Given the description of an element on the screen output the (x, y) to click on. 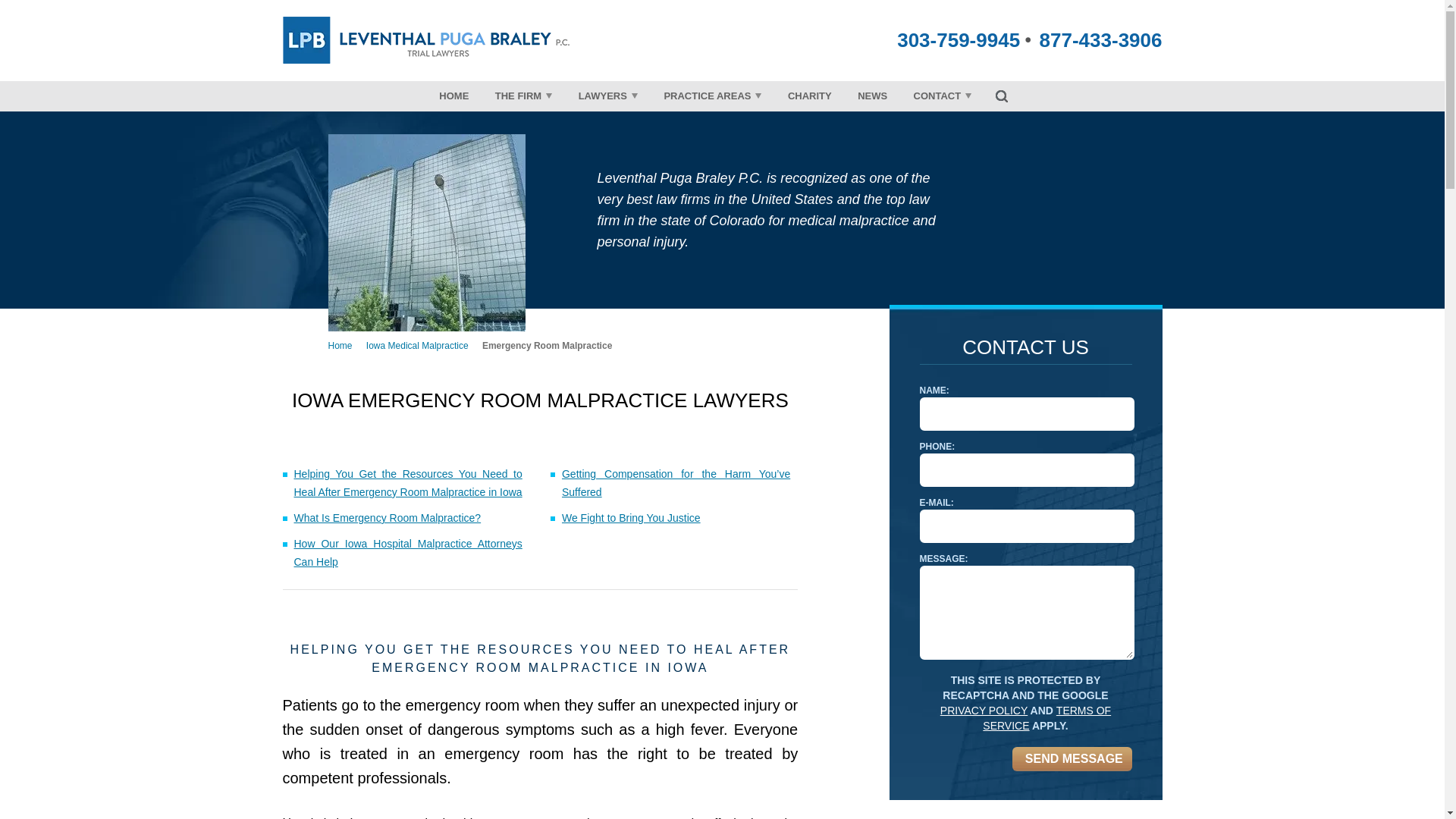
Send Message (1071, 758)
NEWS (871, 96)
THE FIRM (523, 96)
CONTACT (943, 96)
303.759.9945 (958, 39)
LAWYERS (608, 96)
PRACTICE AREAS (712, 96)
CHARITY (809, 96)
HOME (454, 96)
877-433-3906 (1100, 39)
877.433.3906 (1100, 39)
303-759-9945 (958, 39)
